Given the description of an element on the screen output the (x, y) to click on. 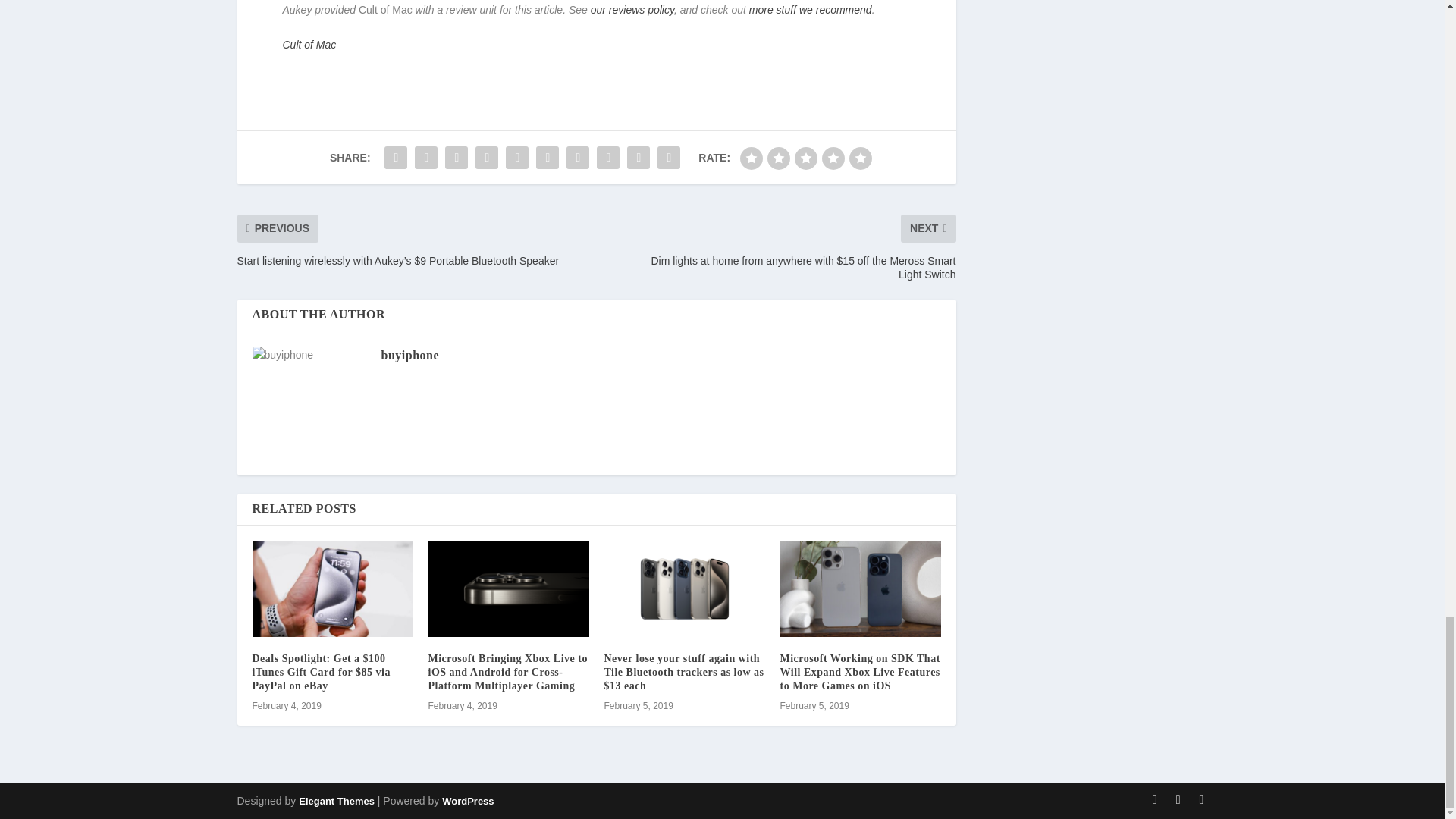
more stuff we recommend (810, 9)
our reviews policy (632, 9)
buyiphone (409, 354)
Cult of Mac (309, 44)
